Given the description of an element on the screen output the (x, y) to click on. 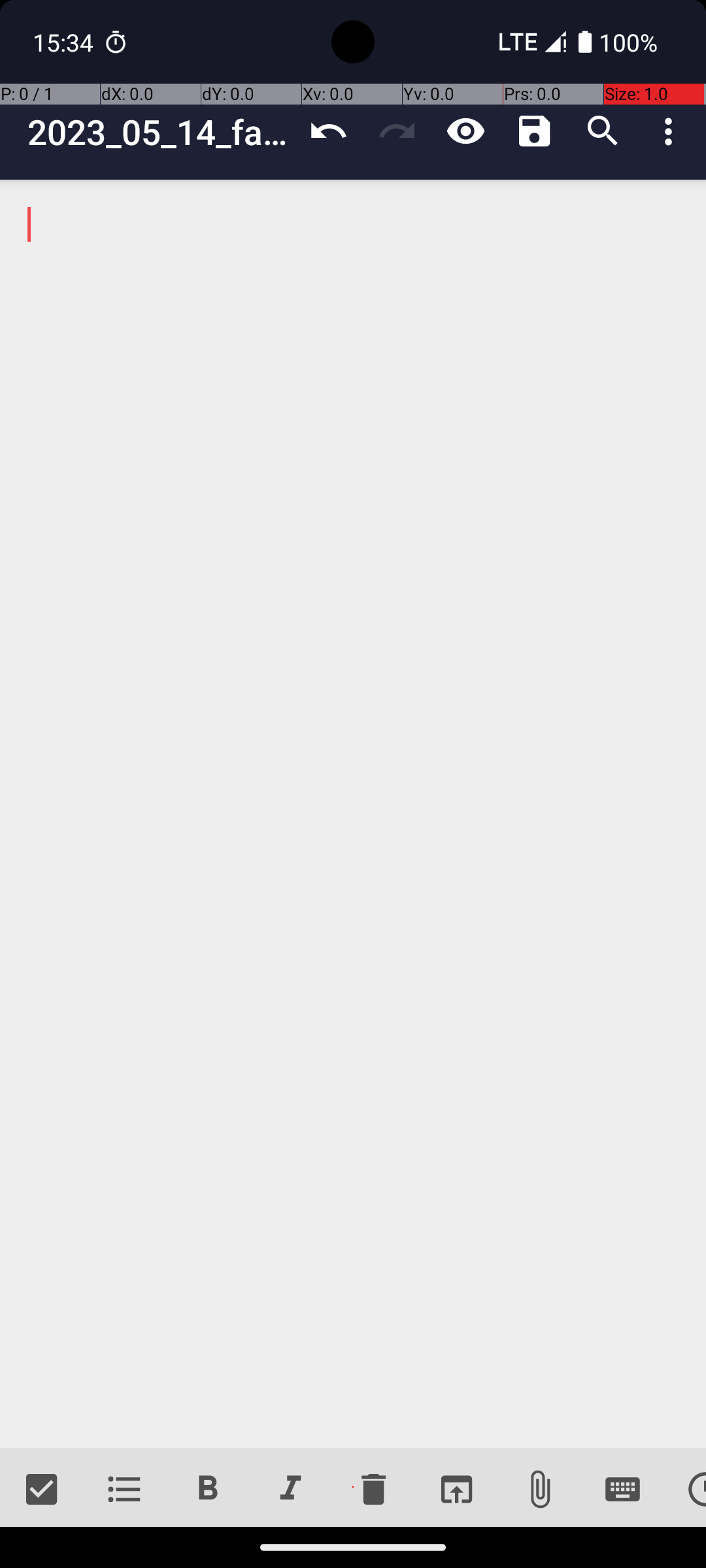
2023_05_14_favorite_book_quotes Element type: android.widget.TextView (160, 131)
